Given the description of an element on the screen output the (x, y) to click on. 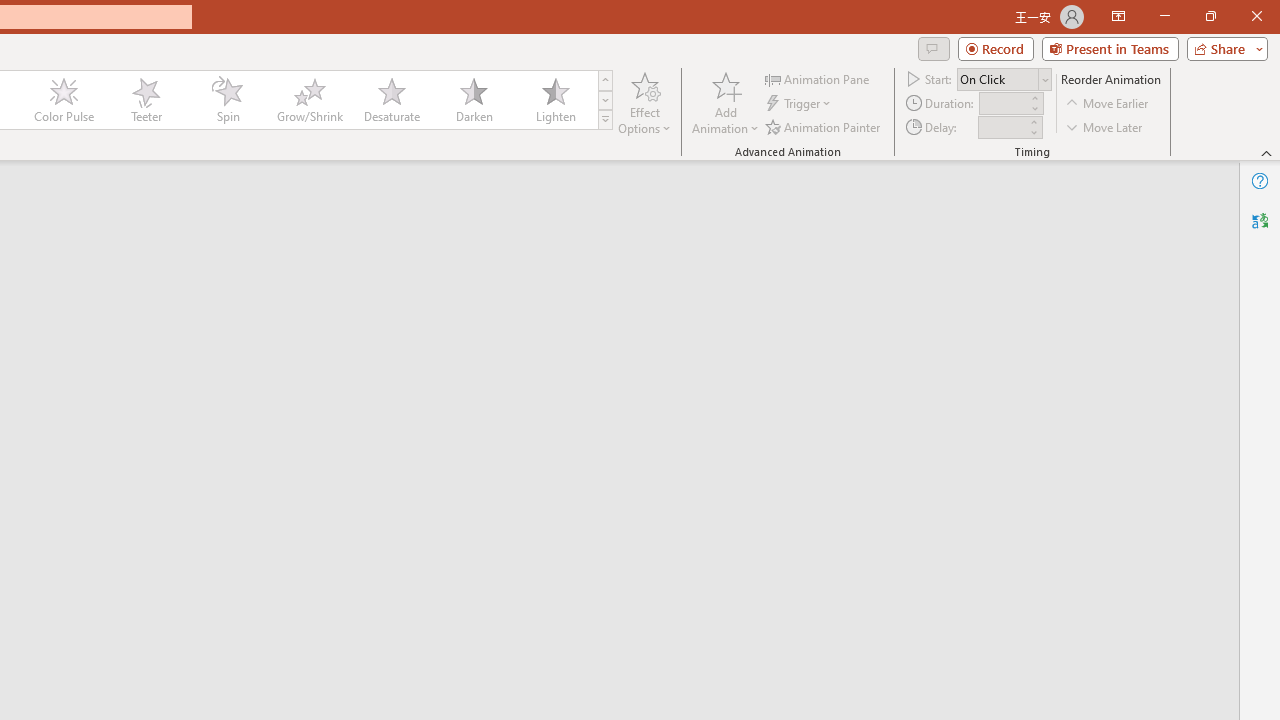
Animation Painter (824, 126)
Color Pulse (63, 100)
Animation Duration (1003, 103)
Animation Pane (818, 78)
Teeter (145, 100)
Animation Styles (605, 120)
Move Earlier (1107, 103)
Grow/Shrink (309, 100)
